Given the description of an element on the screen output the (x, y) to click on. 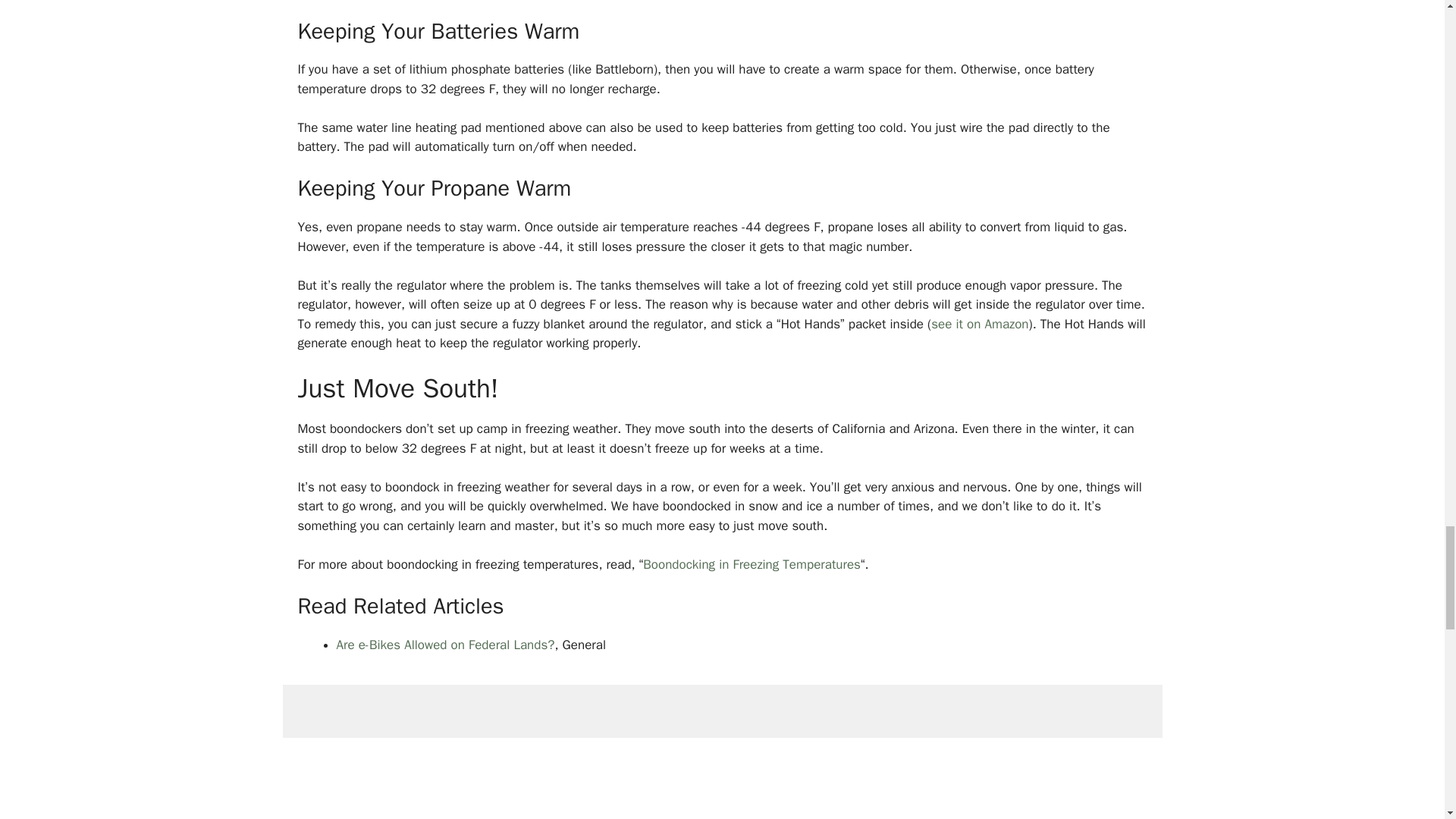
Are e-Bikes Allowed on Federal Lands? (445, 644)
see it on Amazon (979, 324)
Boondocking in Freezing Temperatures (751, 564)
